Given the description of an element on the screen output the (x, y) to click on. 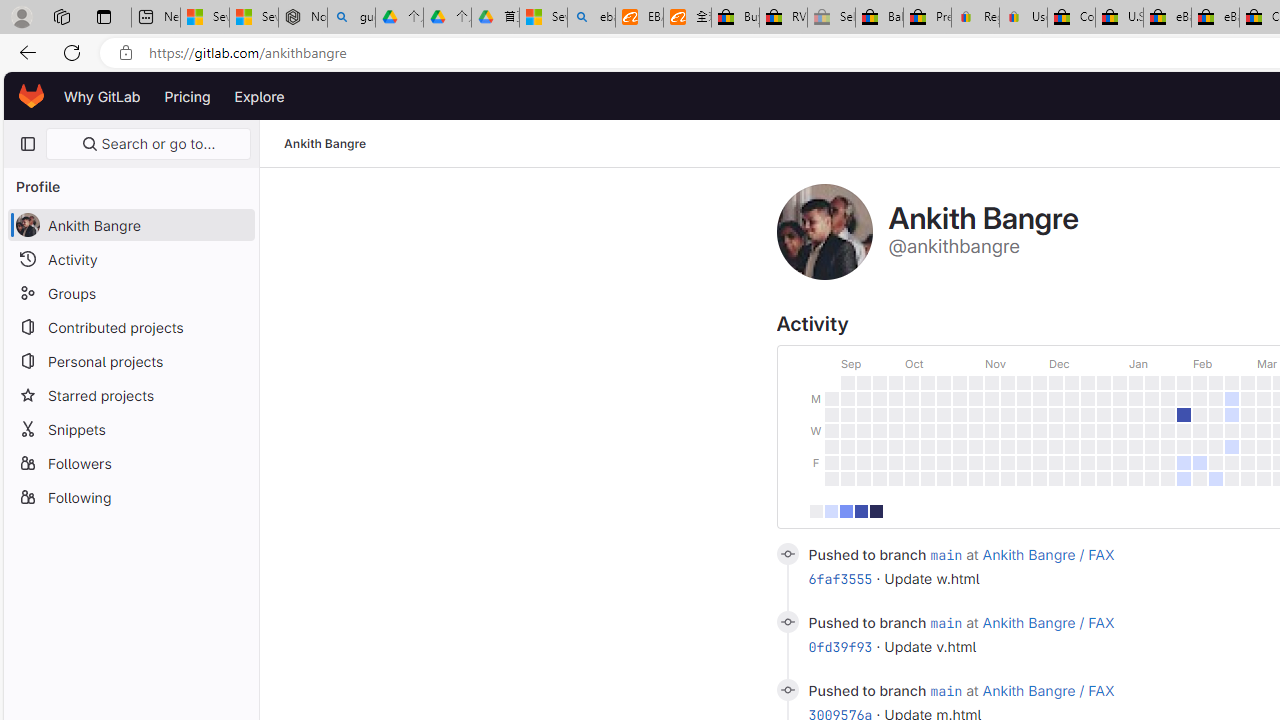
guge yunpan - Search (351, 17)
RV, Trailer & Camper Steps & Ladders for sale | eBay (783, 17)
Ankith Bangre (325, 143)
Following (130, 496)
Activity (130, 259)
